Given the description of an element on the screen output the (x, y) to click on. 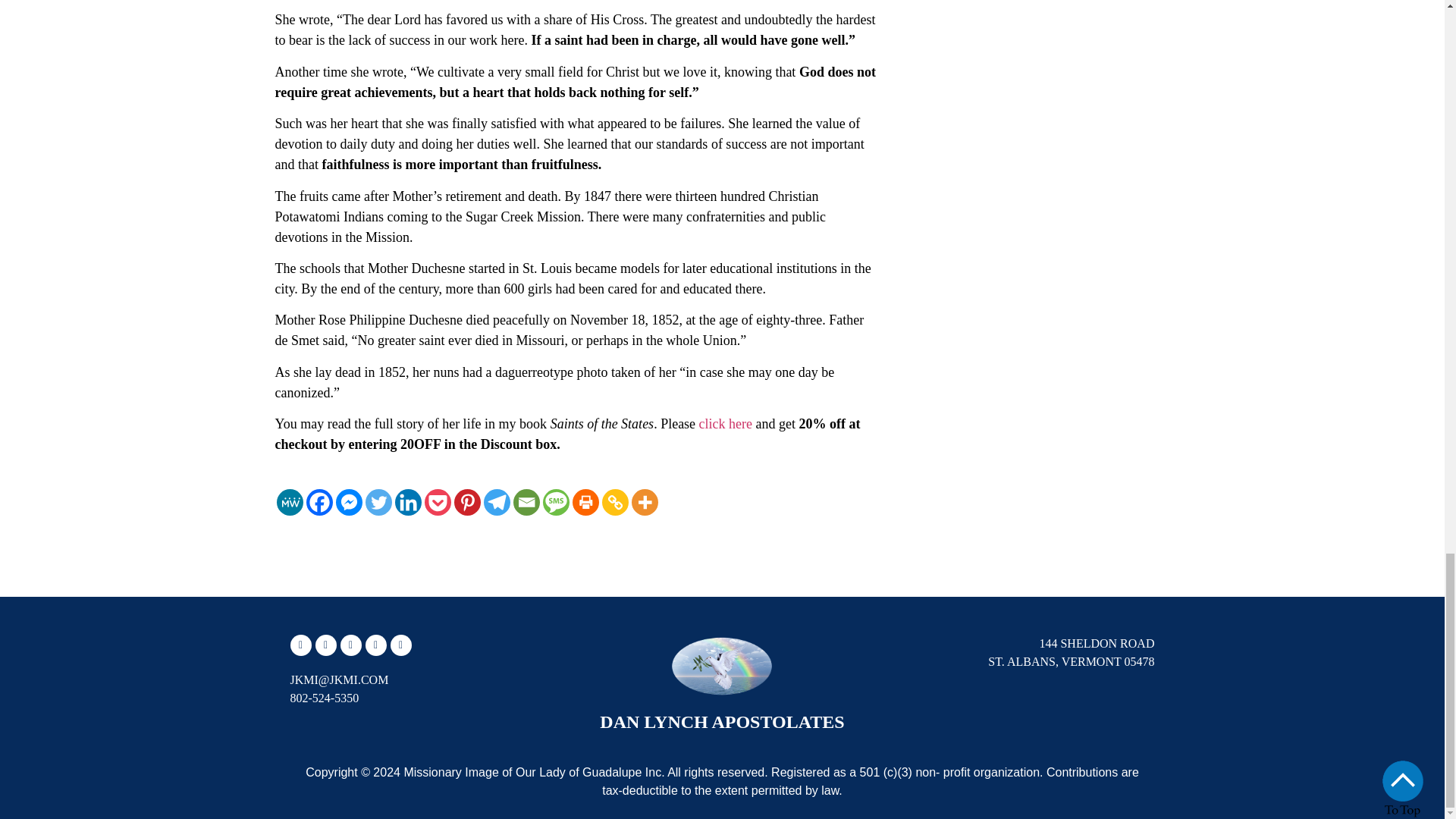
Twitter (378, 501)
Linkedin (407, 501)
MeWe (289, 501)
Facebook (319, 501)
